Given the description of an element on the screen output the (x, y) to click on. 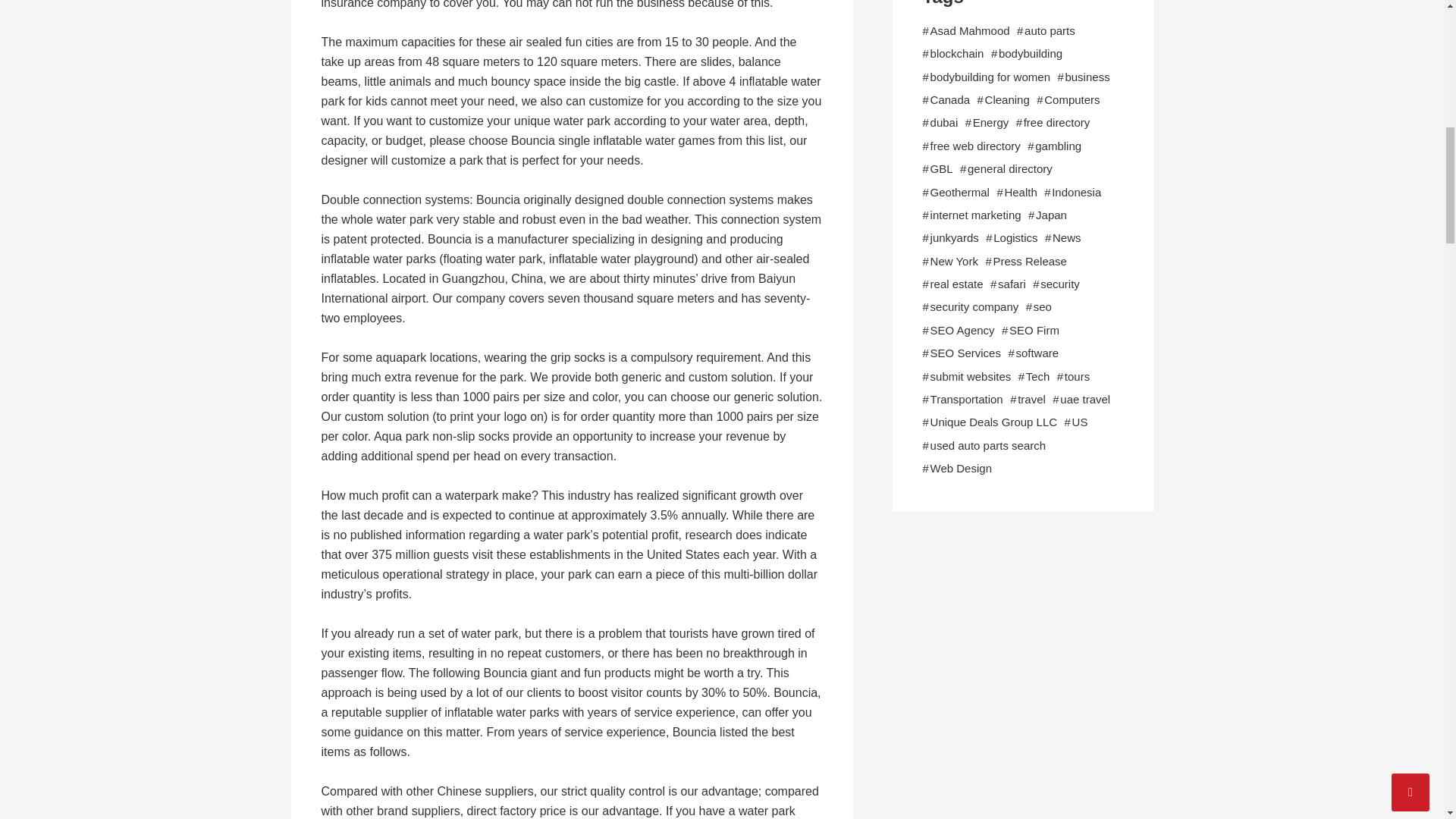
Energy (990, 122)
Asad Mahmood (970, 31)
Health (1020, 192)
gambling (1058, 146)
general directory (1010, 168)
free directory (1056, 122)
business (1086, 76)
free web directory (975, 146)
Canada (950, 99)
Japan (1051, 215)
